Given the description of an element on the screen output the (x, y) to click on. 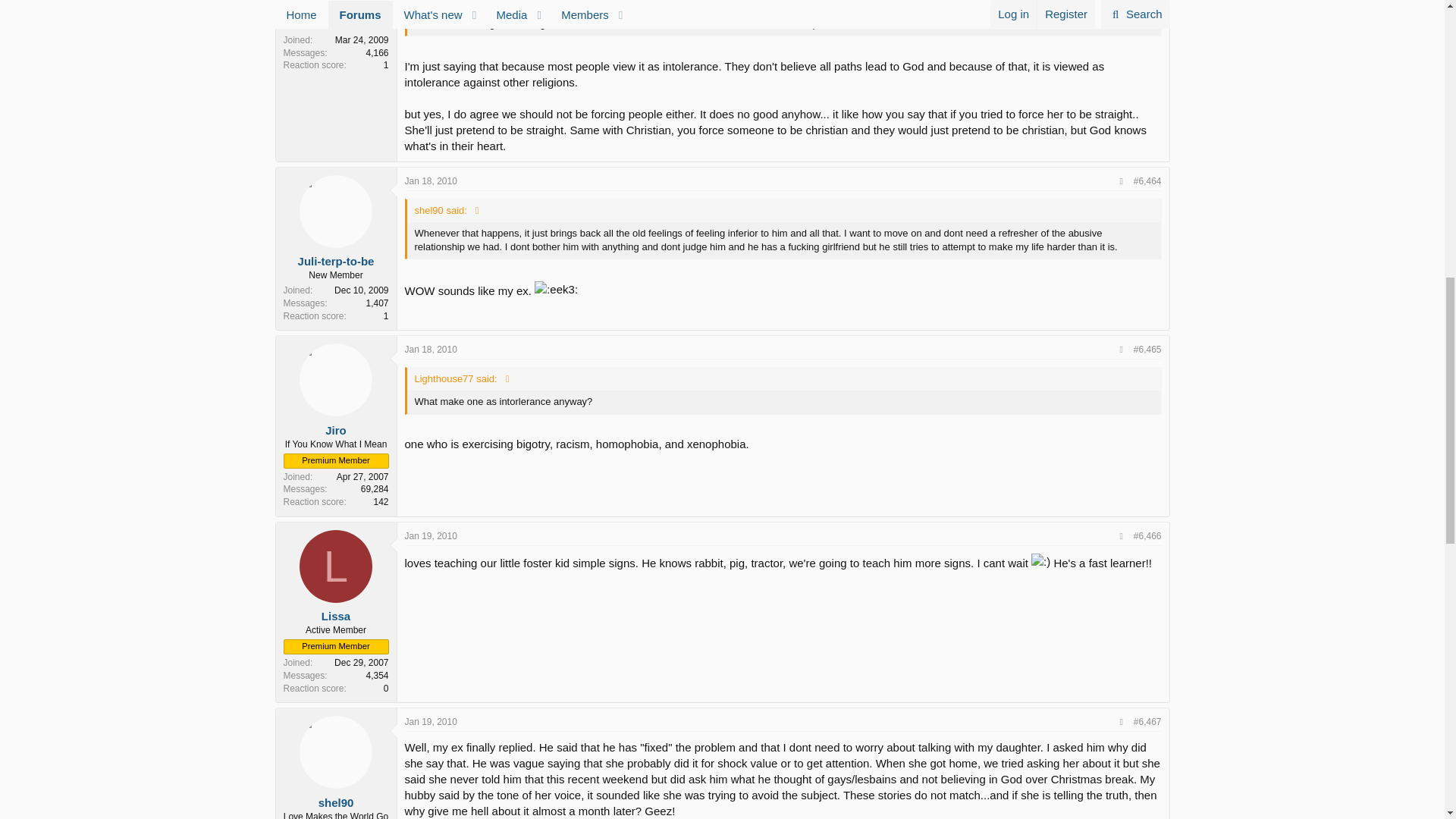
Jan 19, 2010 at 4:12 AM (430, 535)
Jan 19, 2010 at 6:35 AM (430, 721)
Eek 3    :eek3: (556, 289)
Jan 18, 2010 at 11:54 PM (430, 348)
Jan 18, 2010 at 11:40 PM (430, 181)
